Given the description of an element on the screen output the (x, y) to click on. 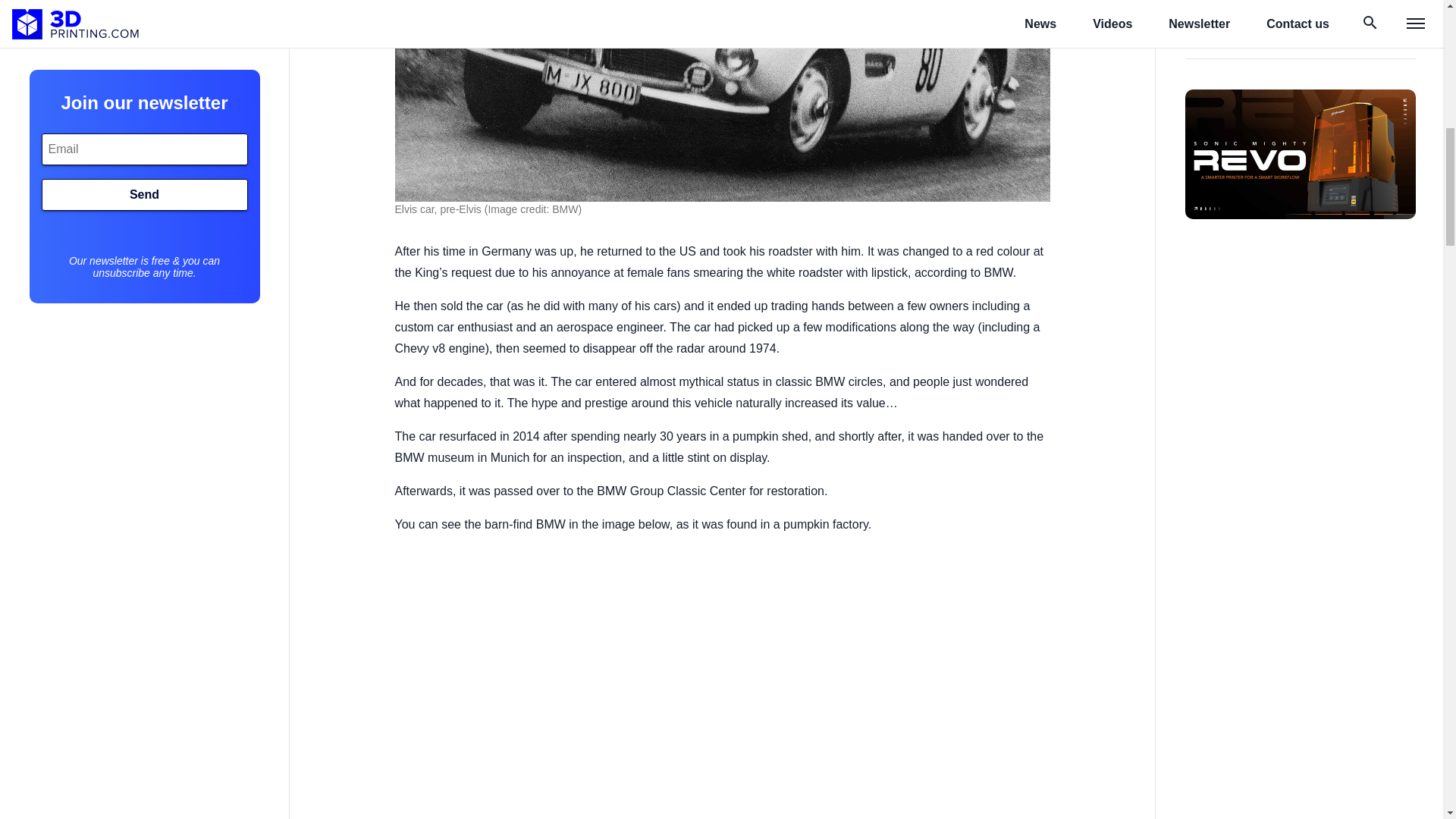
Send (143, 72)
